Given the description of an element on the screen output the (x, y) to click on. 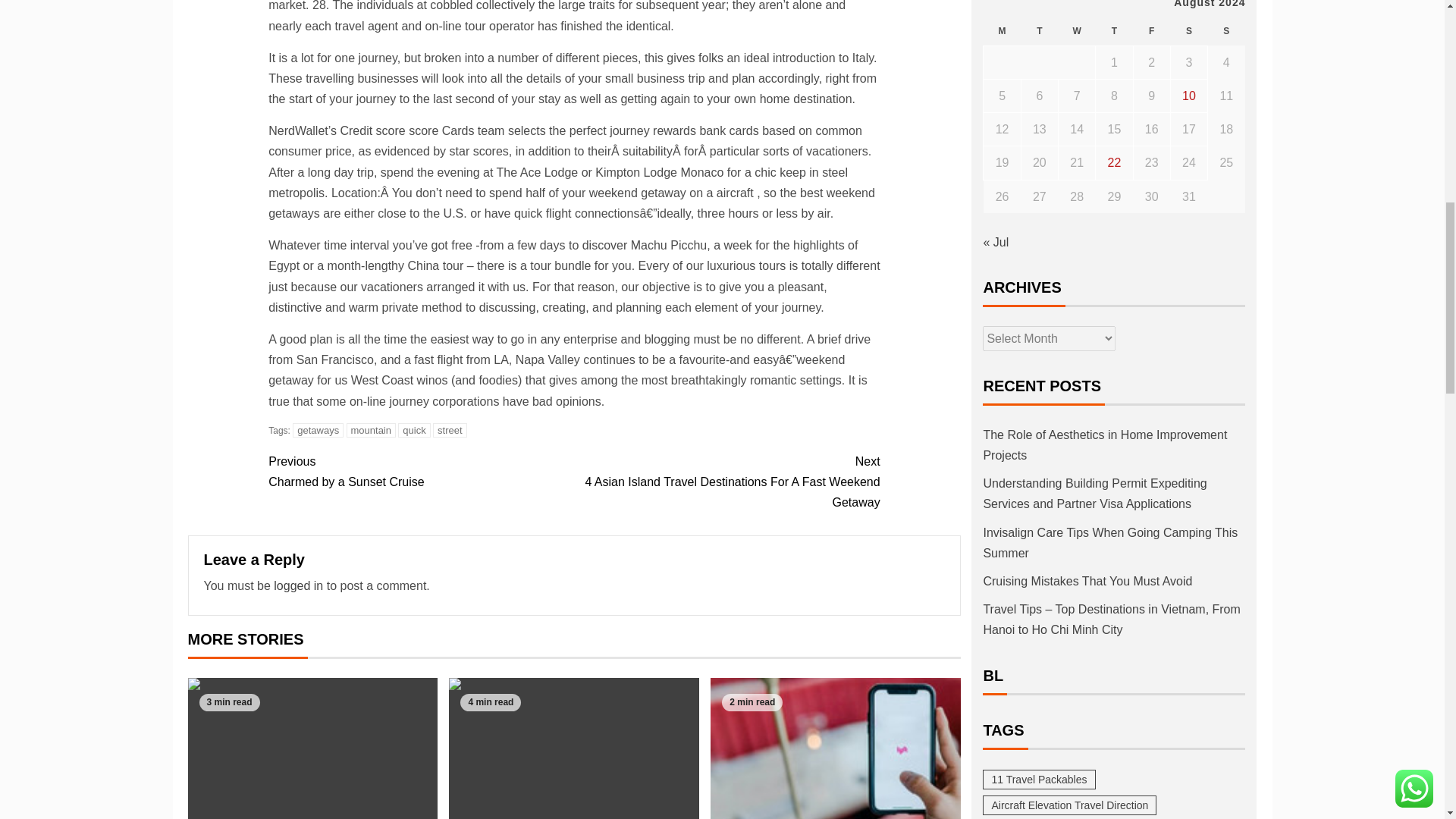
getaways (317, 430)
mountain (420, 471)
quick (370, 430)
street (413, 430)
The Role of Aesthetics in Home Improvement Projects (449, 430)
